Given the description of an element on the screen output the (x, y) to click on. 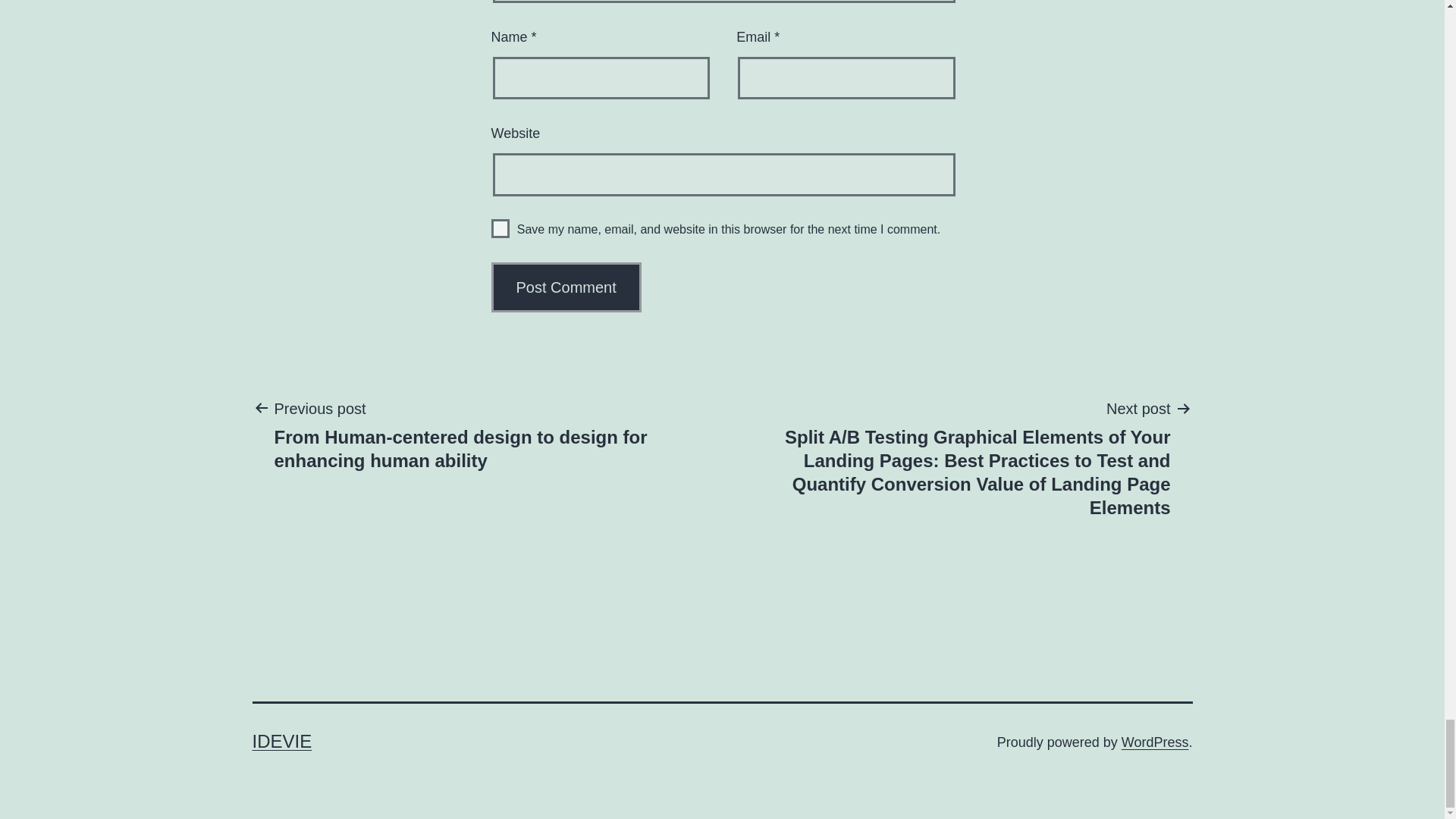
Post Comment (567, 287)
yes (500, 228)
